Given the description of an element on the screen output the (x, y) to click on. 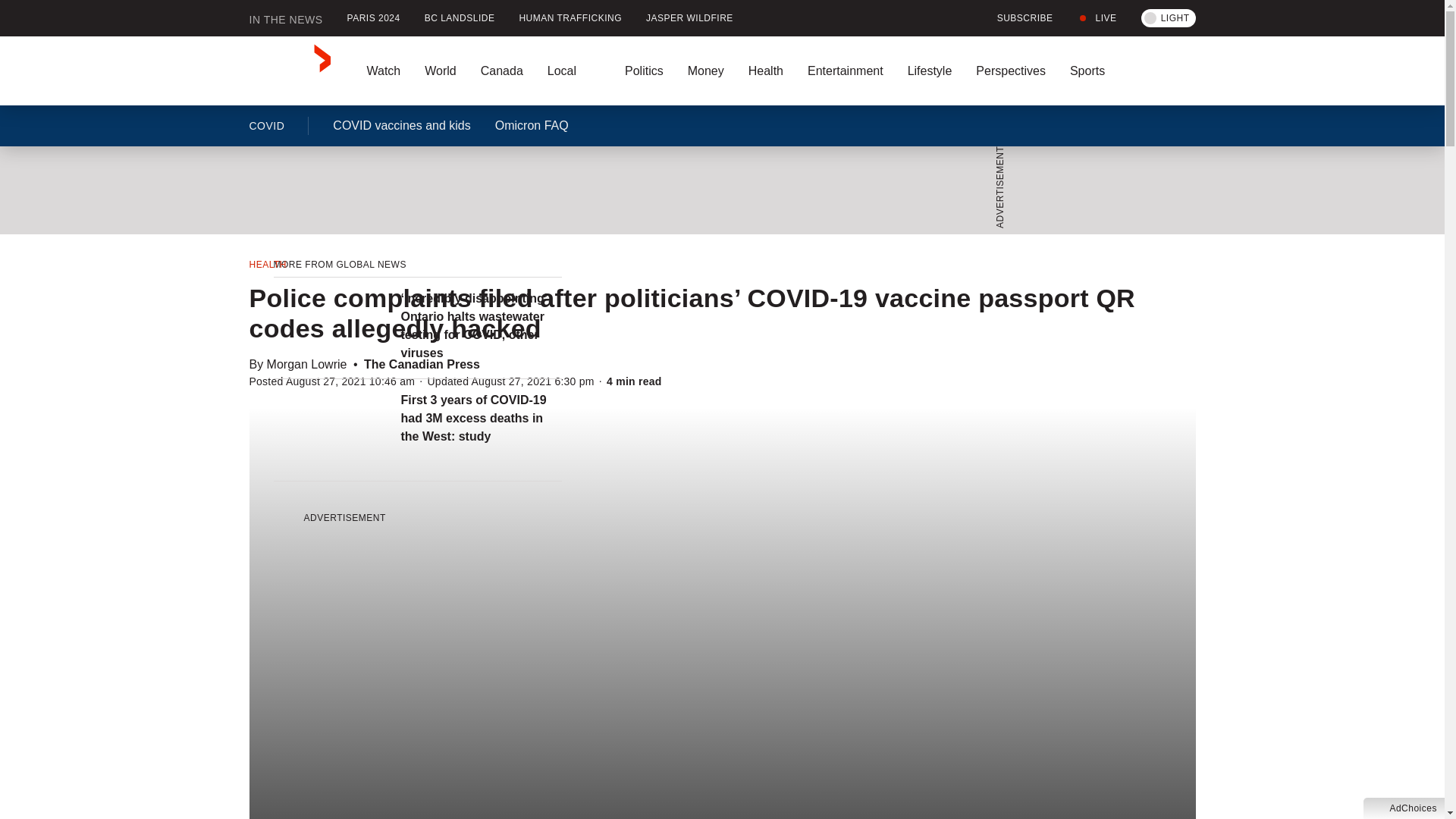
Politics (643, 70)
PARIS 2024 (373, 18)
Canada (501, 70)
GlobalNews home (289, 70)
LIVE (1096, 18)
Perspectives (1010, 70)
Entertainment (844, 70)
SUBSCRIBE (1015, 18)
Lifestyle (929, 70)
JASPER WILDFIRE (689, 18)
BC LANDSLIDE (459, 18)
Local (573, 70)
HUMAN TRAFFICKING (569, 18)
